Given the description of an element on the screen output the (x, y) to click on. 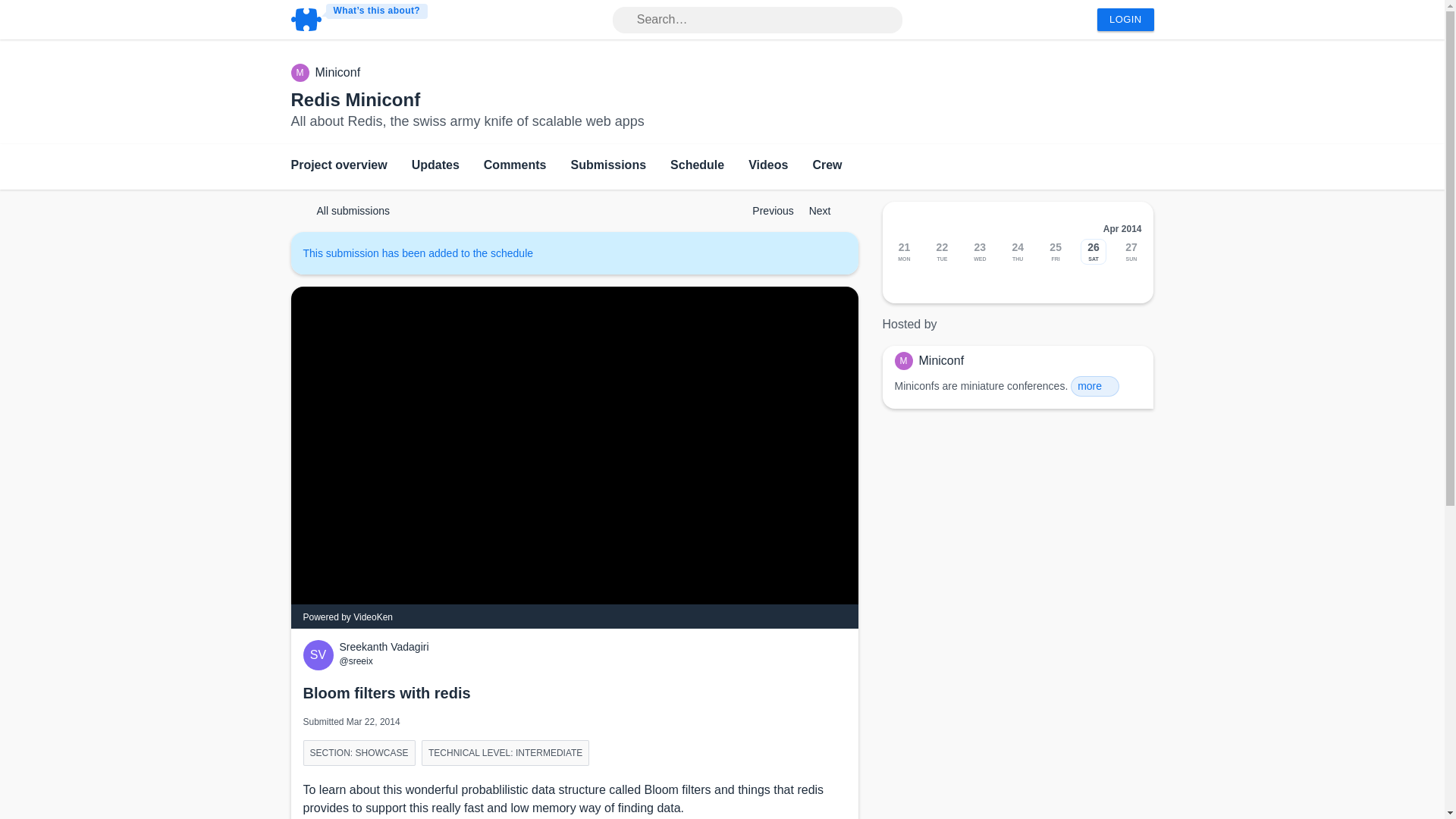
Redis Miniconf (355, 99)
Powered by VideoKen (347, 616)
Next (827, 210)
All submissions (346, 211)
Updates (436, 166)
Schedule (696, 166)
This submission has been added to the schedule (425, 253)
Submissions (608, 166)
M (303, 72)
Previous (766, 210)
SV (320, 654)
Project overview (339, 166)
Miniconf (338, 72)
LOGIN (1125, 19)
Comments (515, 166)
